Given the description of an element on the screen output the (x, y) to click on. 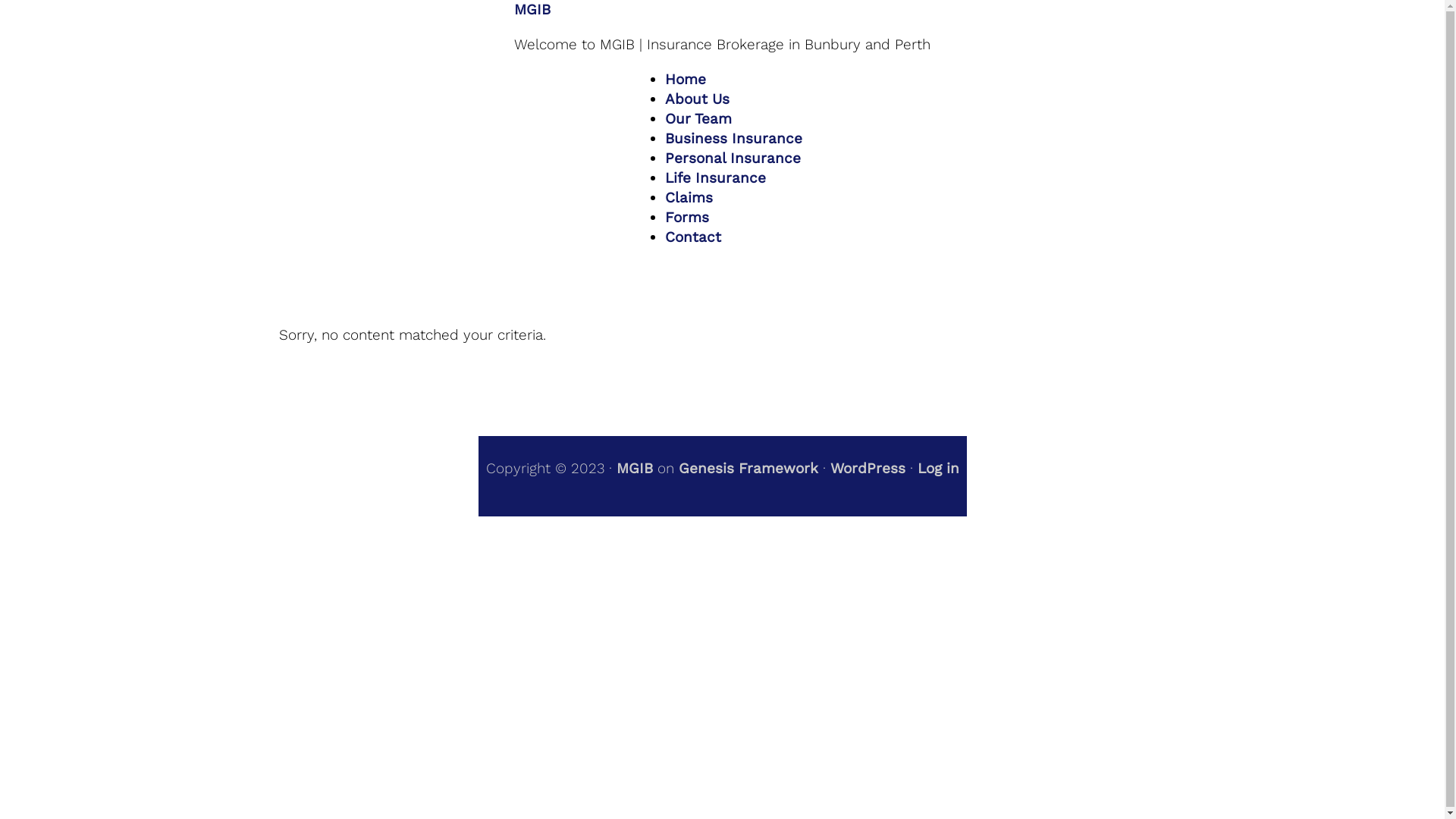
MGIB Element type: text (532, 9)
Personal Insurance Element type: text (732, 157)
Contact Element type: text (693, 236)
Forms Element type: text (687, 216)
Claims Element type: text (688, 197)
Genesis Framework Element type: text (747, 467)
Business Insurance Element type: text (733, 138)
WordPress Element type: text (866, 467)
Life Insurance Element type: text (715, 177)
About Us Element type: text (697, 98)
Log in Element type: text (938, 467)
Home Element type: text (685, 78)
Our Team Element type: text (698, 118)
MGIB Element type: text (633, 467)
